Given the description of an element on the screen output the (x, y) to click on. 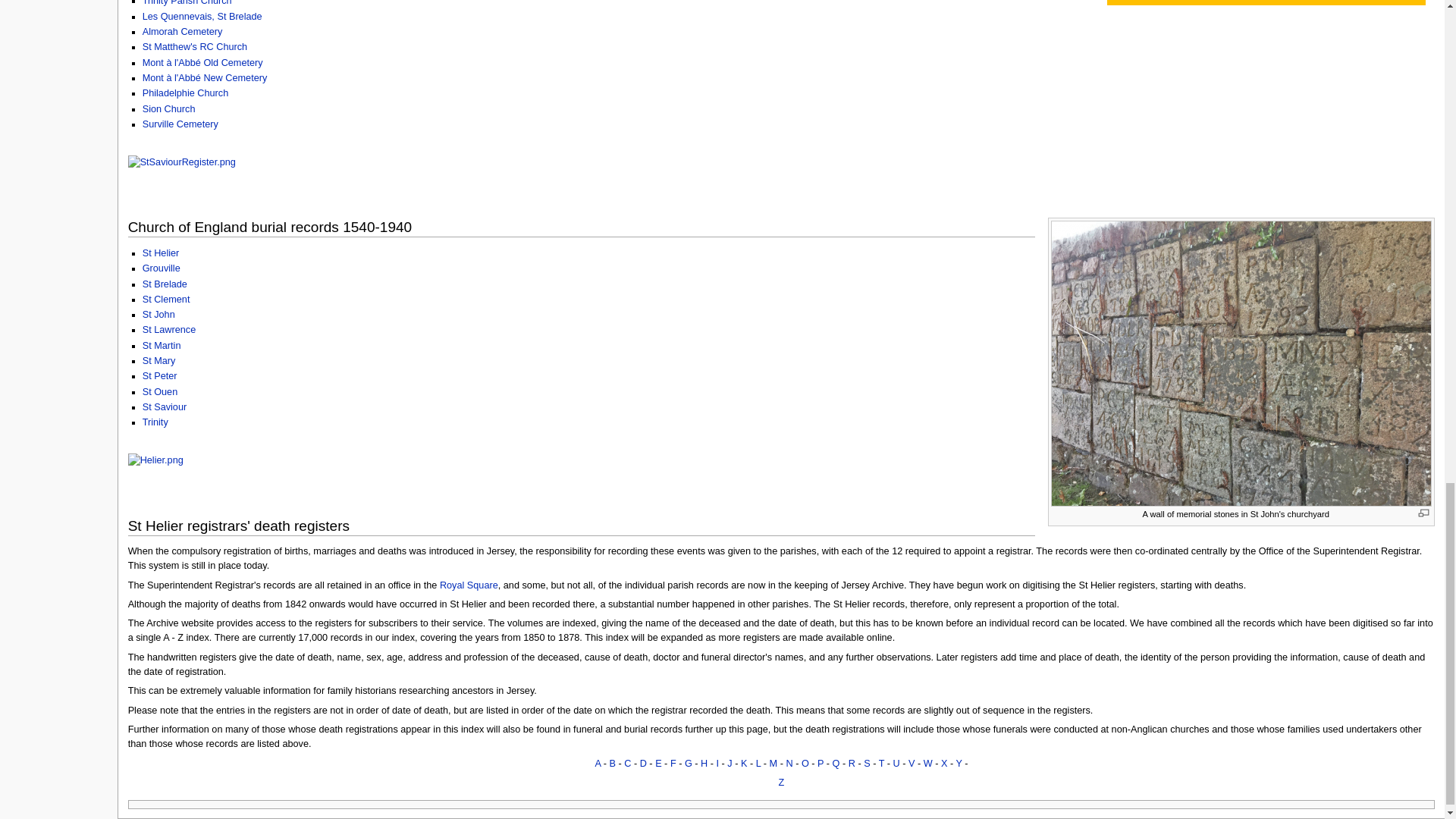
St Matthew's RC Church (194, 46)
Almorah Cemetery (182, 31)
Les Quennevais, St Brelade (202, 16)
Trinity Parish Church (186, 2)
